Given the description of an element on the screen output the (x, y) to click on. 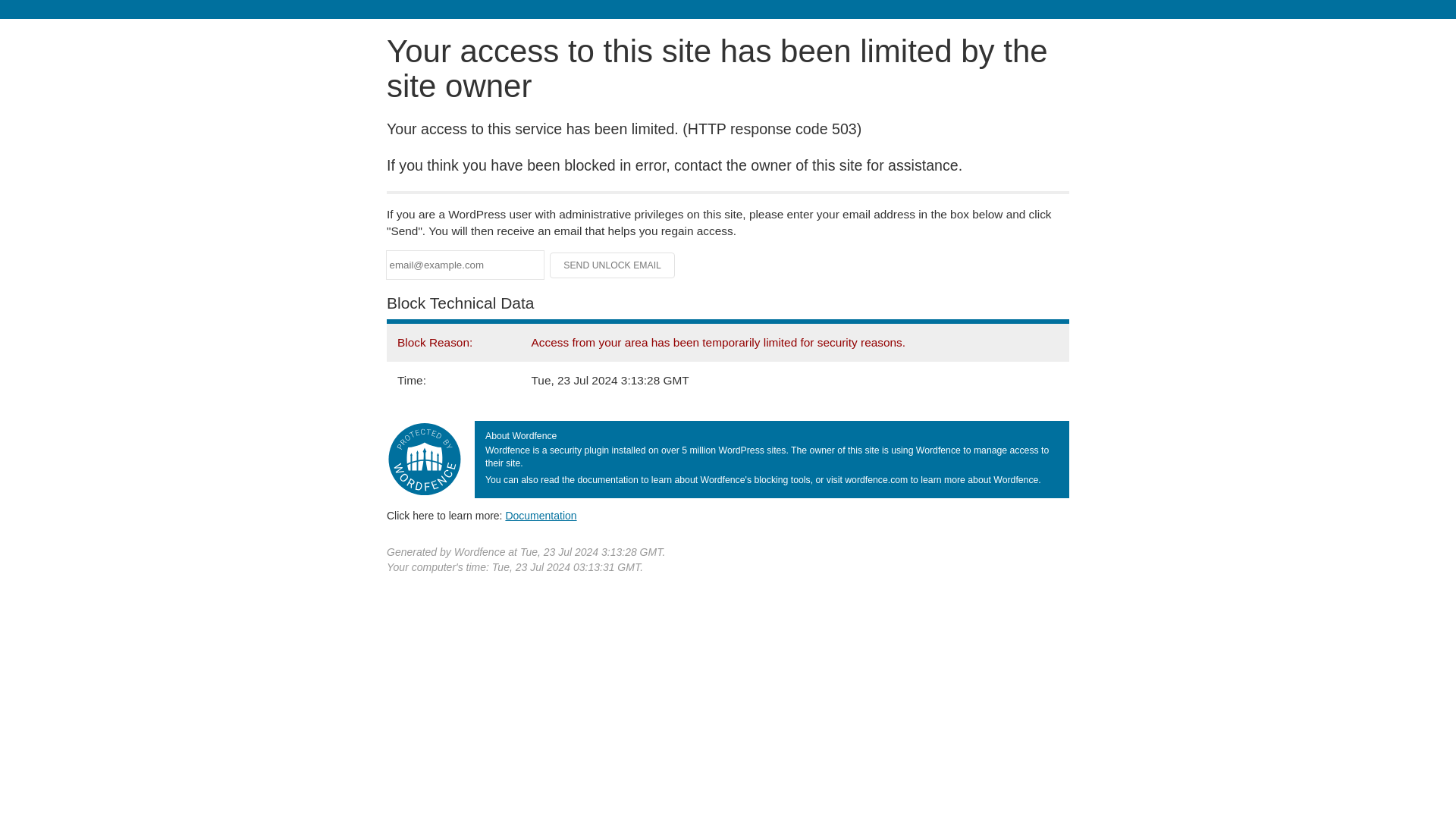
Send Unlock Email (612, 265)
Documentation (540, 515)
Send Unlock Email (612, 265)
